Given the description of an element on the screen output the (x, y) to click on. 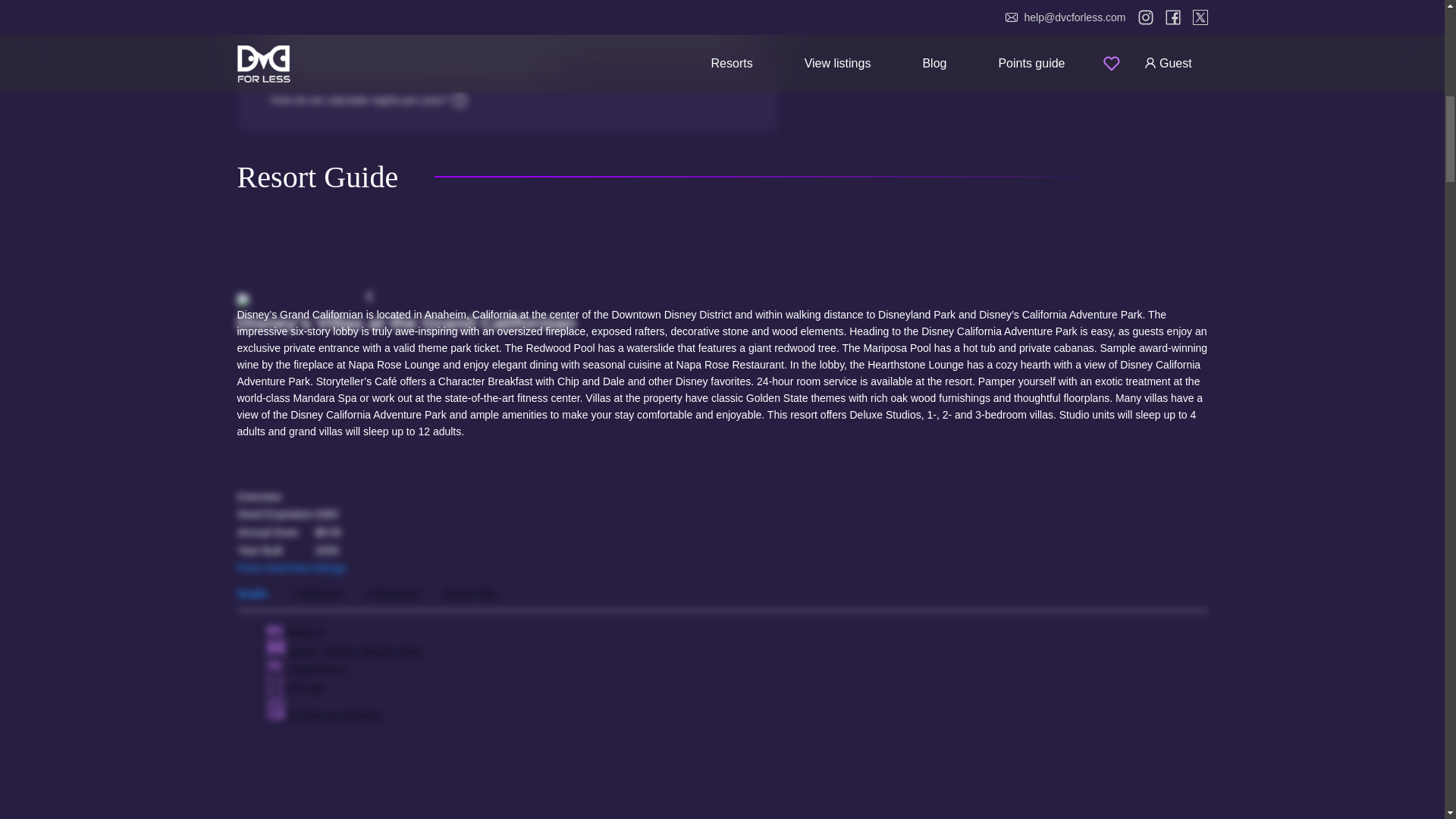
Disney's Villas at the Grand Californian (721, 315)
Queen, Queen Sleeper Sofa (353, 652)
View listings (316, 567)
Point chart (260, 567)
